Given the description of an element on the screen output the (x, y) to click on. 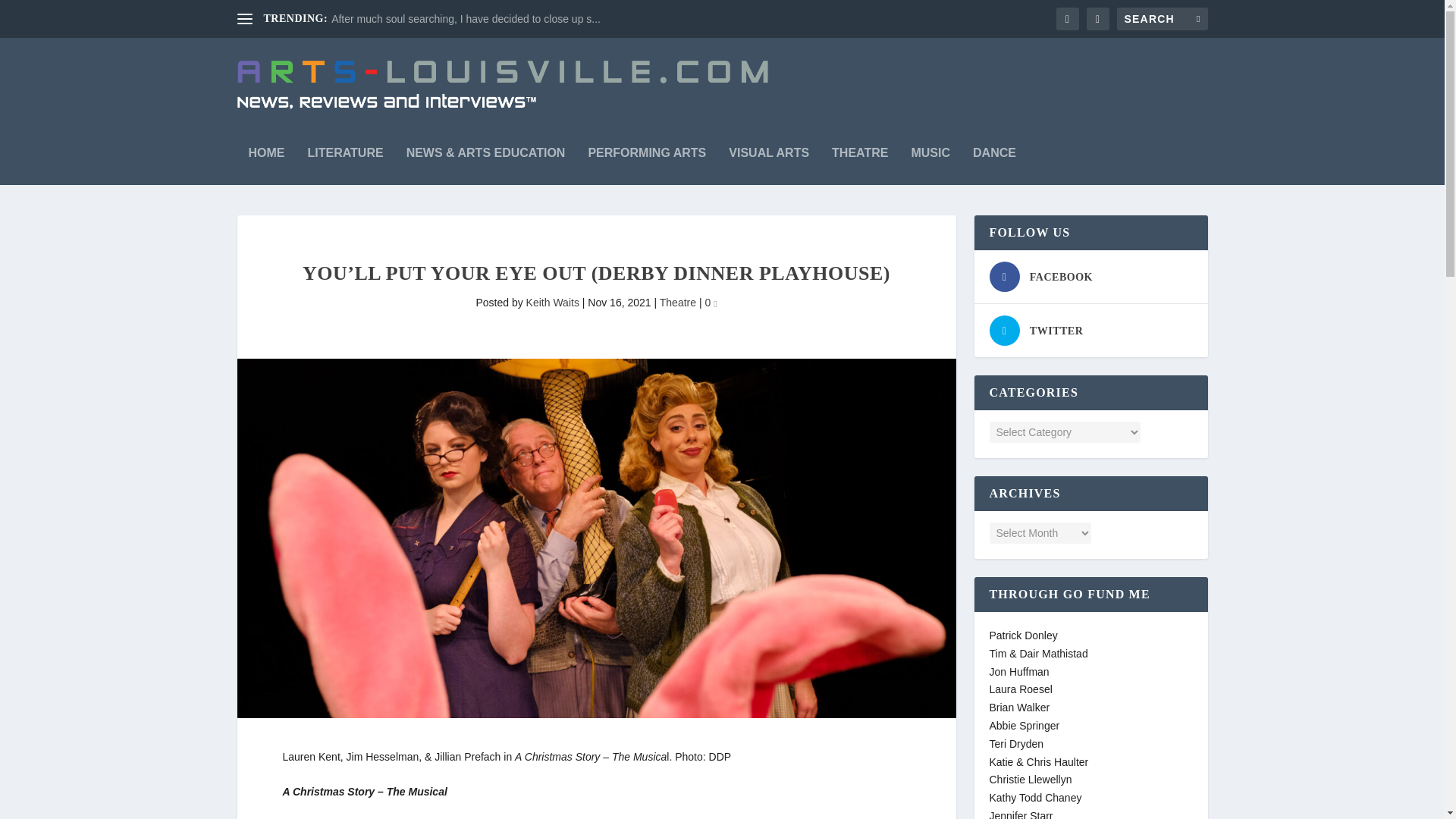
After much soul searching, I have decided to close up s... (465, 19)
0 (710, 302)
VISUAL ARTS (769, 158)
Posts by Keith Waits (552, 302)
Search for: (1161, 18)
PERFORMING ARTS (647, 158)
LITERATURE (345, 158)
Theatre (677, 302)
Keith Waits (552, 302)
THEATRE (859, 158)
